Given the description of an element on the screen output the (x, y) to click on. 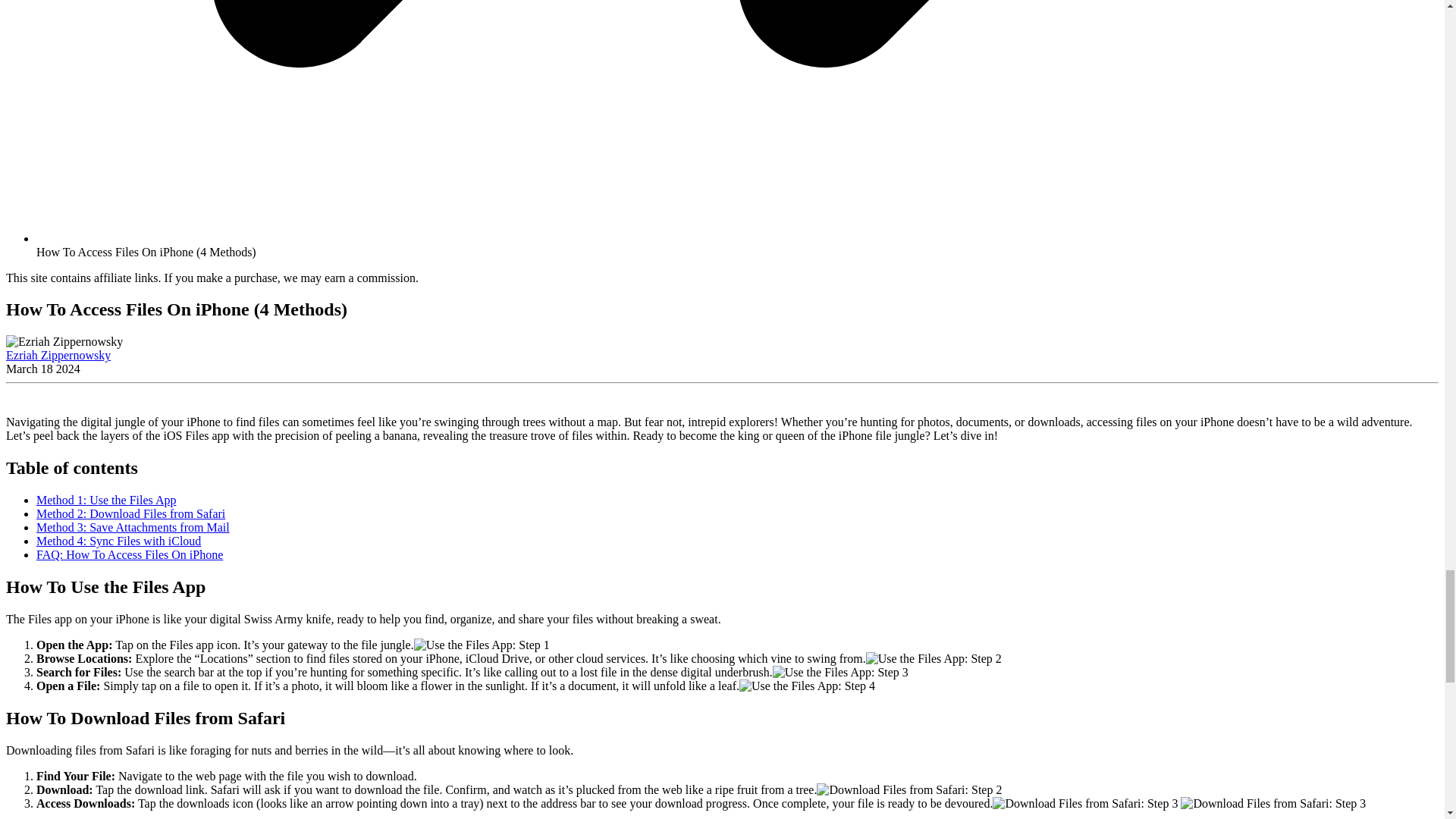
Method 4: Sync Files with iCloud (118, 540)
Ezriah Zippernowsky (57, 354)
Method 1: Use the Files App (106, 499)
Method 2: Download Files from Safari (130, 513)
Method 3: Save Attachments from Mail (133, 526)
FAQ: How To Access Files On iPhone (129, 554)
